Given the description of an element on the screen output the (x, y) to click on. 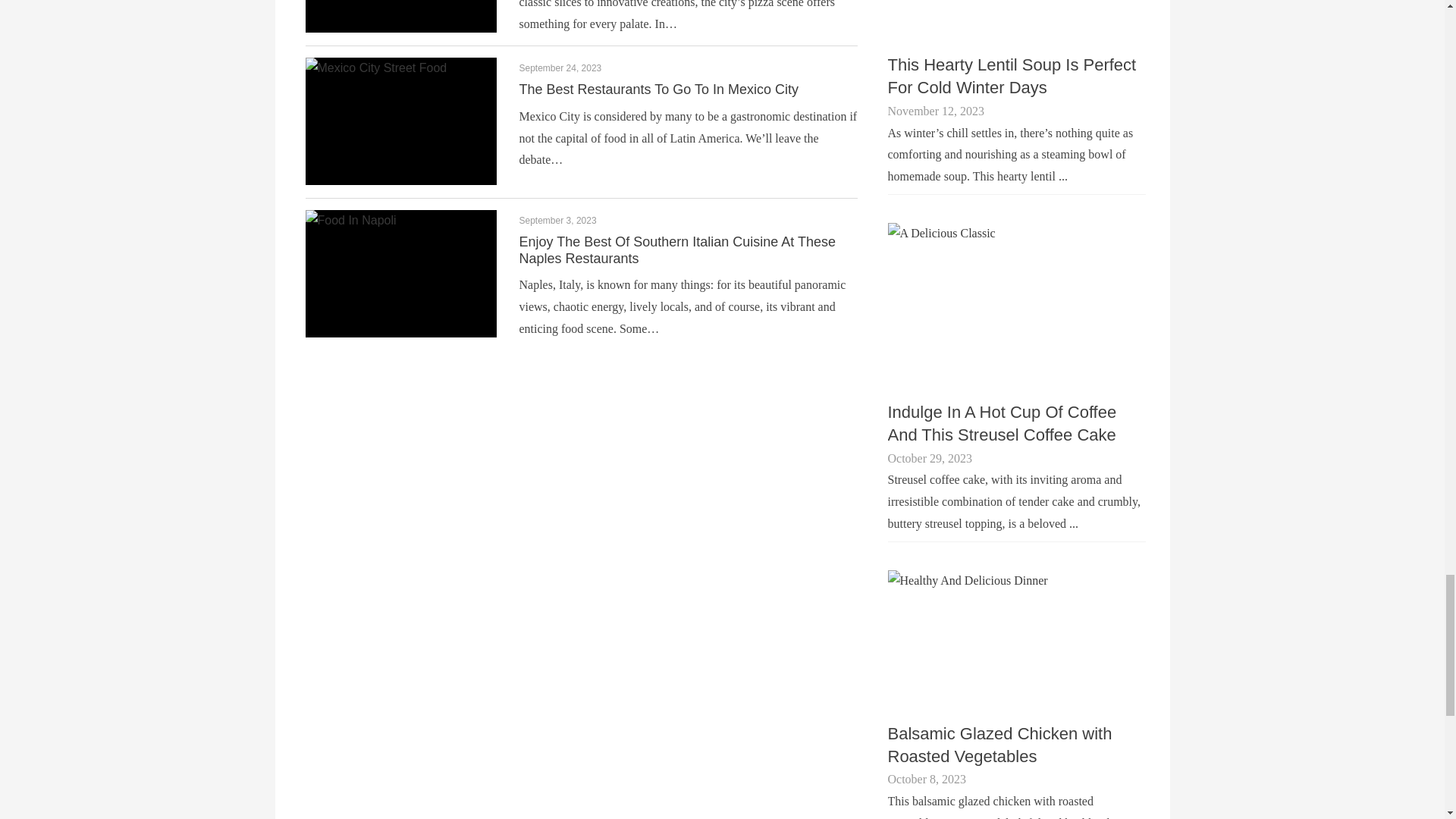
The Best Restaurants To Go To In Mexico City (657, 89)
